Given the description of an element on the screen output the (x, y) to click on. 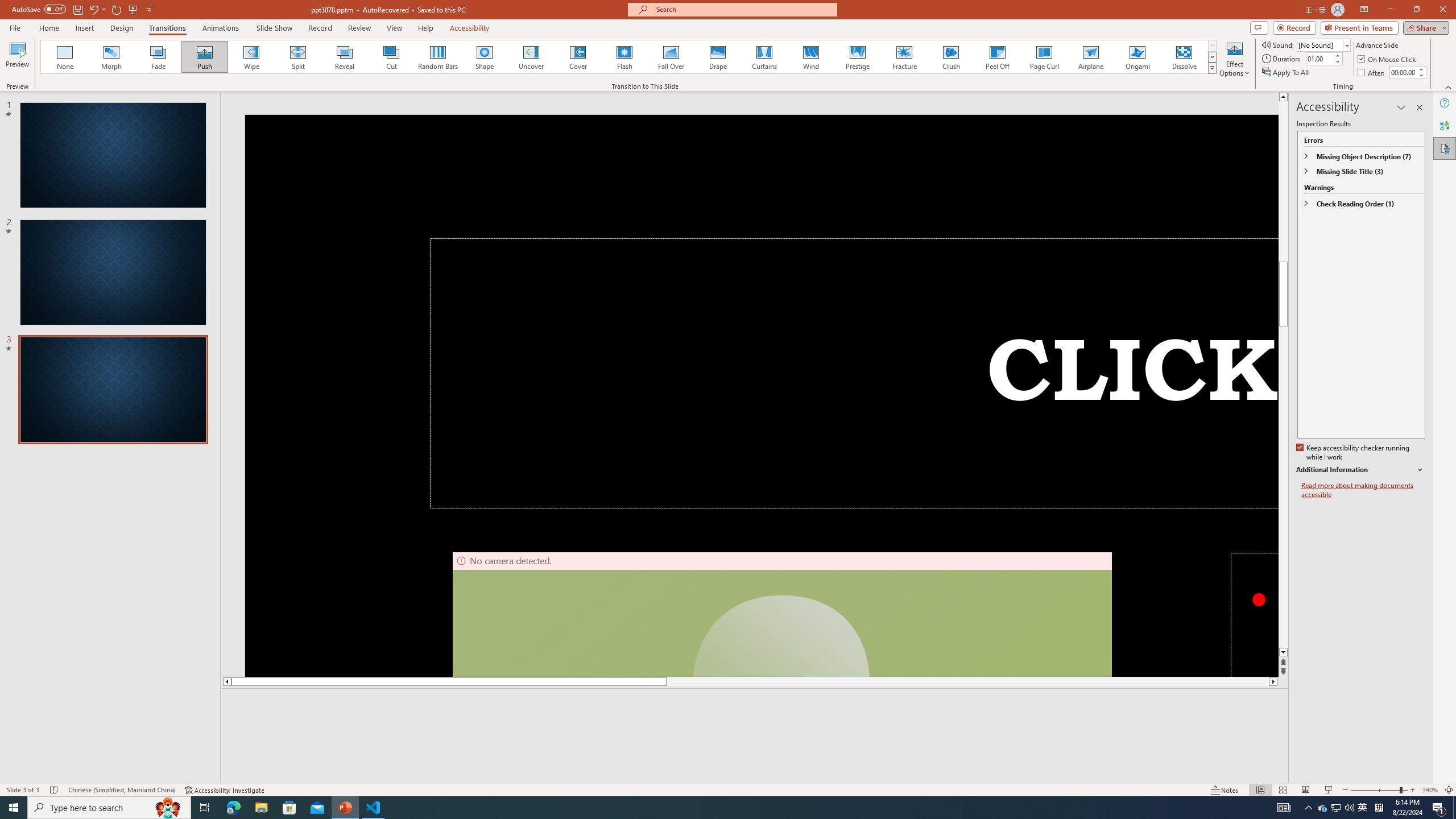
Cover (577, 56)
Reveal (344, 56)
Airplane (1090, 56)
Page Curl (1043, 56)
